Given the description of an element on the screen output the (x, y) to click on. 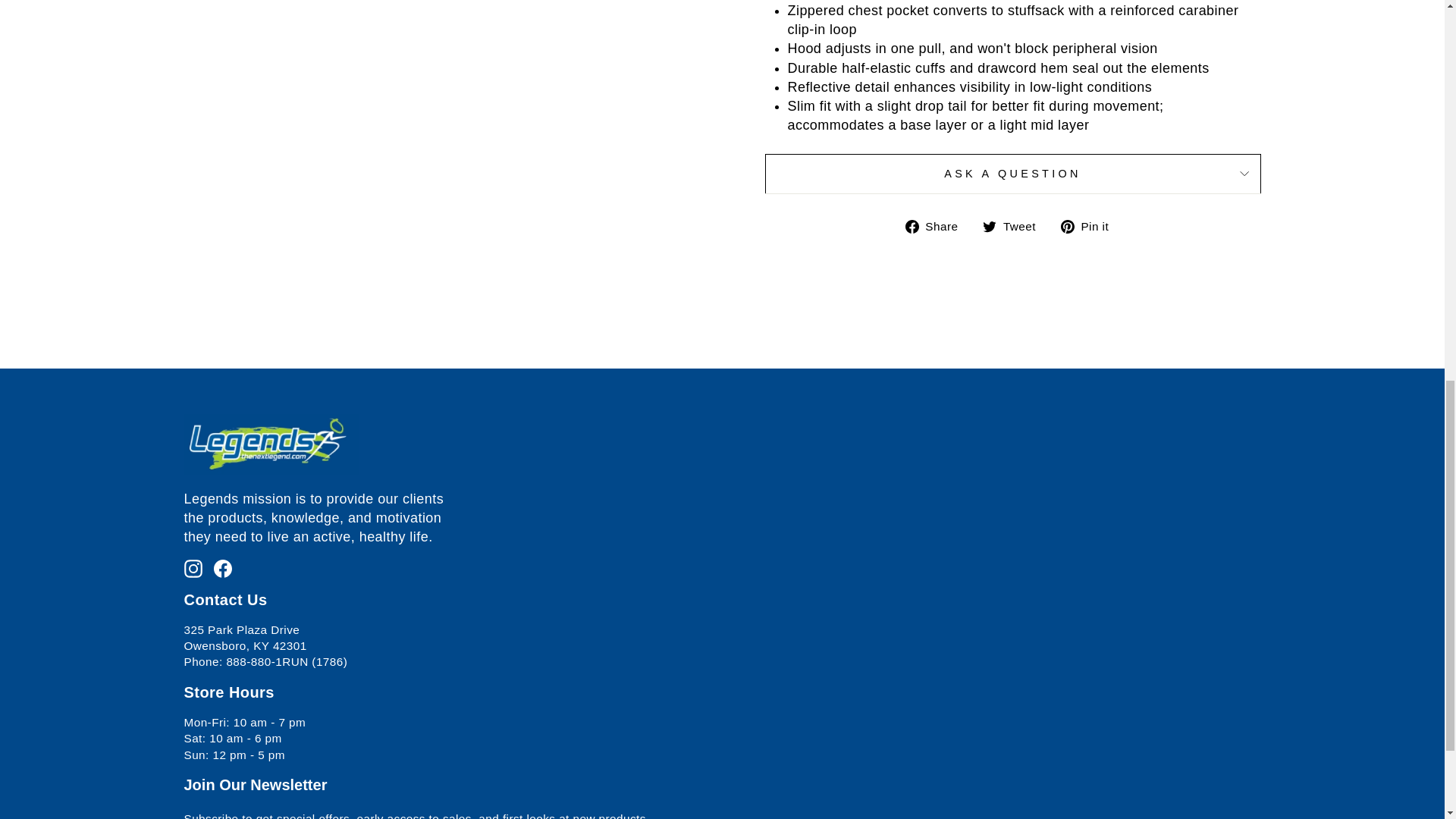
Pin on Pinterest (1090, 226)
Legends- Outfitters of Active People on Instagram (192, 567)
Tweet on Twitter (1014, 226)
Legends- Outfitters of Active People on Facebook (222, 567)
Share on Facebook (937, 226)
